Given the description of an element on the screen output the (x, y) to click on. 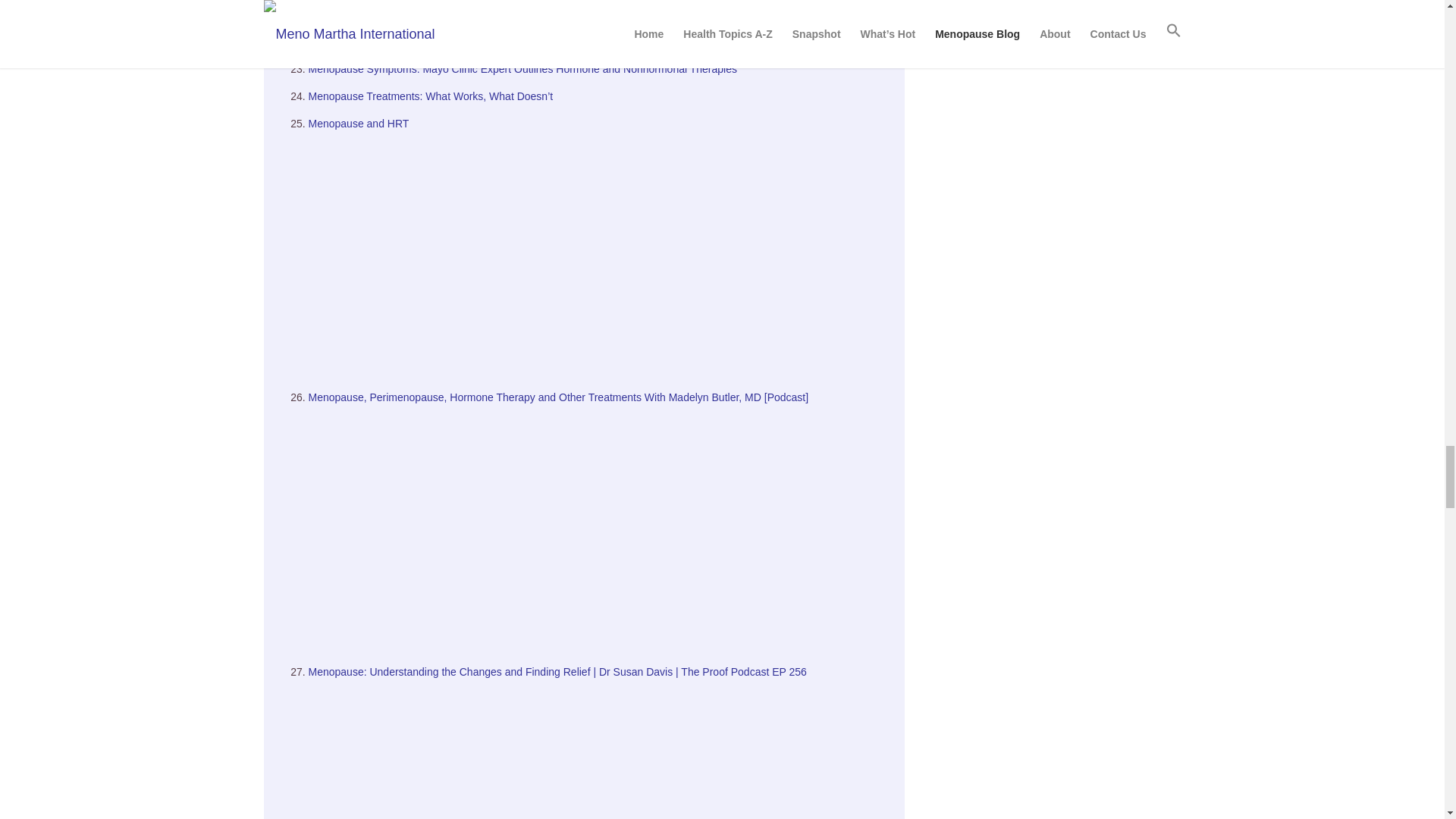
YouTube video player (597, 528)
YouTube video player (597, 22)
YouTube video player (597, 751)
YouTube video player (597, 254)
